Given the description of an element on the screen output the (x, y) to click on. 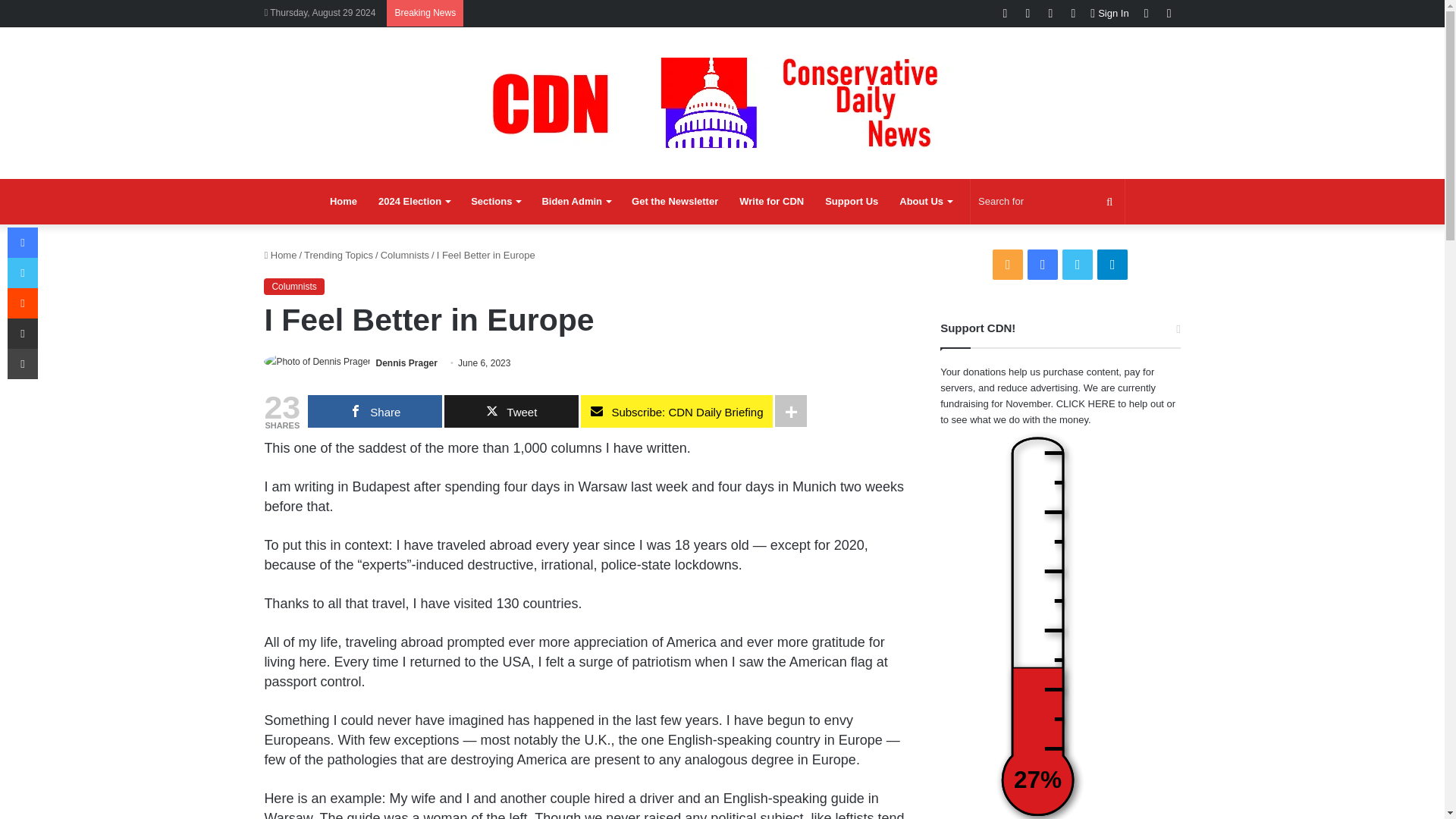
Conservative Daily News (721, 102)
Search for (1047, 201)
Support CDN With a Small Donation (850, 201)
Get the Newsletter (675, 201)
Biden Admin (576, 201)
2024 Election (414, 201)
Become a CDN Contributor (771, 201)
Sections (495, 201)
Dennis Prager (405, 362)
Home (343, 201)
